Given the description of an element on the screen output the (x, y) to click on. 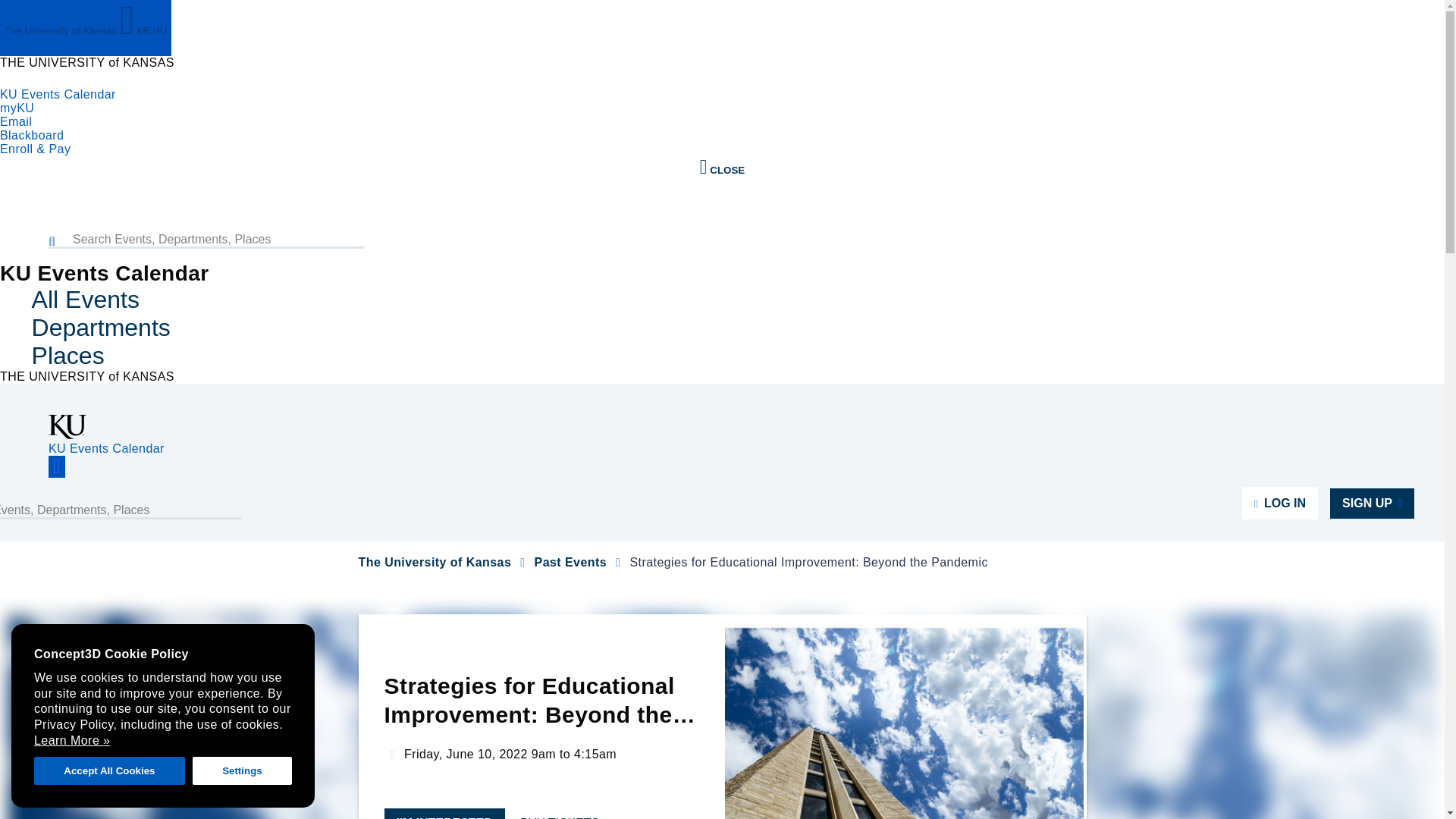
KU Events Calendar (106, 448)
Menu (56, 466)
BUY TICKETS (565, 816)
Email (16, 121)
The University of Kansas MENU (85, 28)
The University of Kansas (434, 562)
Departments (101, 327)
All Events (85, 298)
I'M INTERESTED (443, 813)
University of Kansas logo (66, 434)
Places (68, 355)
Past Events (570, 562)
SIGN UP (1371, 503)
Blackboard (32, 134)
